Given the description of an element on the screen output the (x, y) to click on. 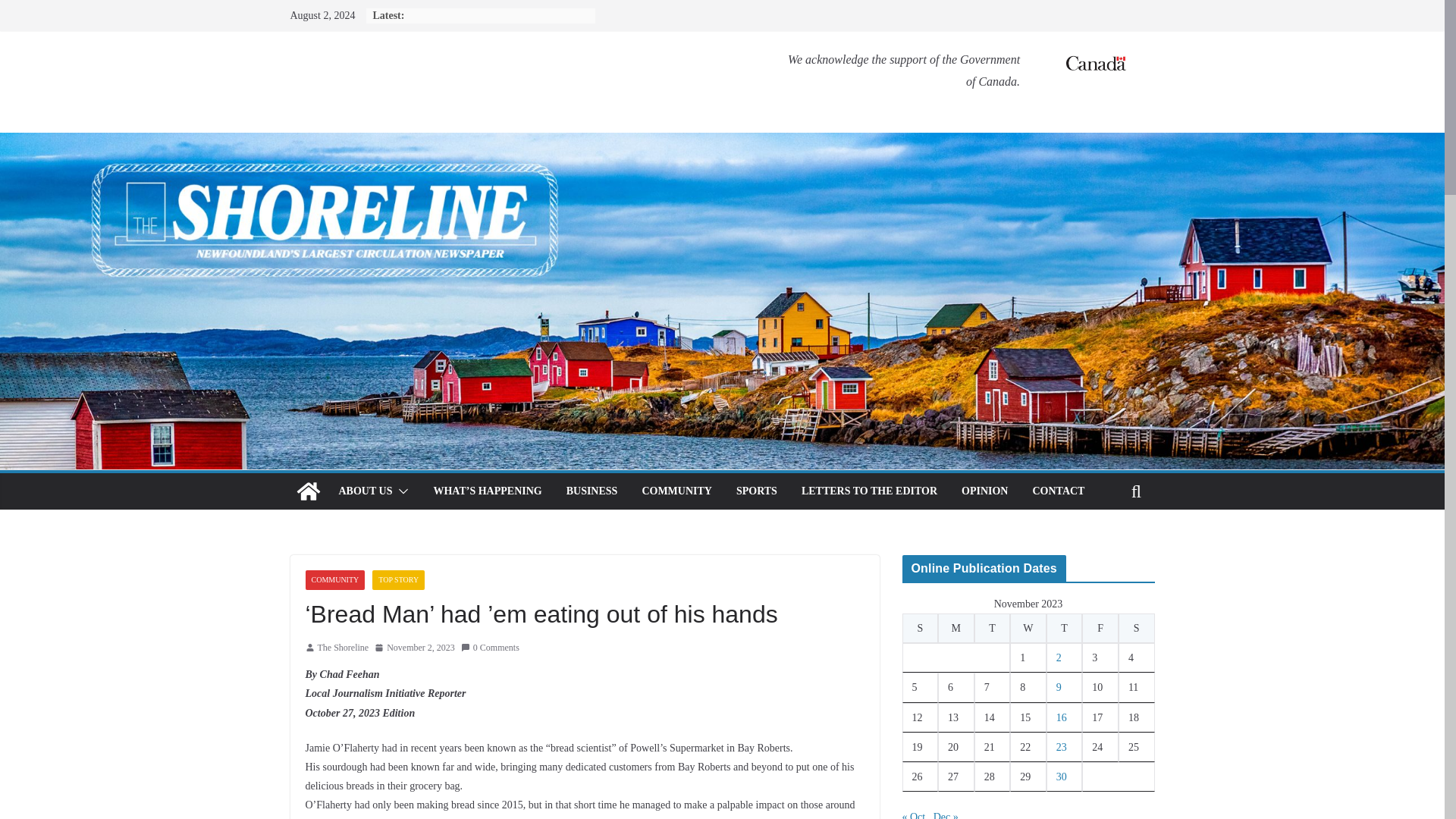
Saturday (1136, 627)
The Shoreline News (307, 491)
Monday (955, 627)
November 2, 2023 (414, 647)
23 (1062, 747)
30 (1062, 776)
16 (1062, 717)
LETTERS TO THE EDITOR (869, 491)
12:23 pm (414, 647)
The Shoreline (342, 647)
TOP STORY (398, 579)
SPORTS (756, 491)
0 Comments (490, 647)
CONTACT (1058, 491)
Friday (1099, 627)
